Given the description of an element on the screen output the (x, y) to click on. 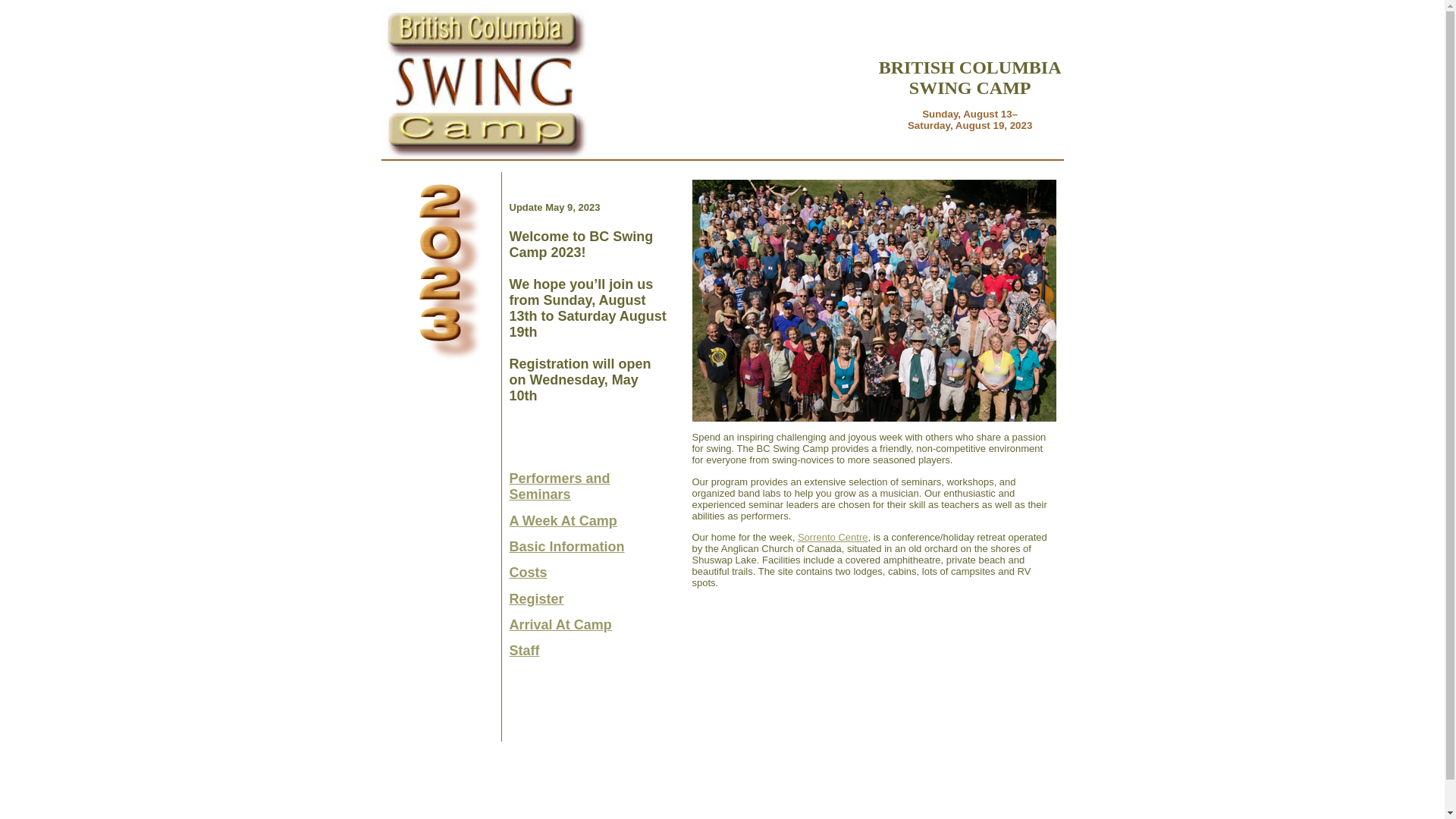
A Week At Camp Element type: text (563, 520)
Arrival At Camp Element type: text (560, 624)
Sorrento Centre Element type: text (832, 536)
Performers and Seminars Element type: text (559, 486)
Register Element type: text (536, 598)
Staff Element type: text (524, 650)
Basic Information Element type: text (566, 546)
Costs Element type: text (528, 572)
